Given the description of an element on the screen output the (x, y) to click on. 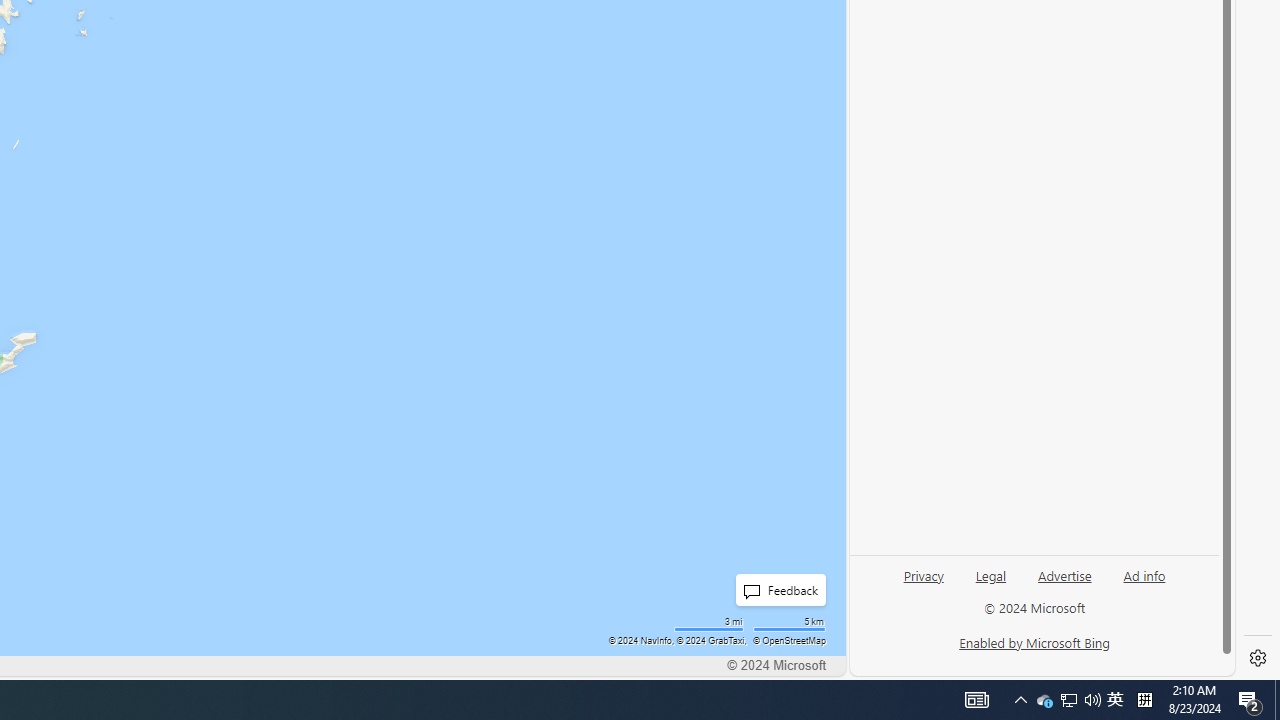
Ad info (1144, 574)
Legal (991, 574)
Legal (990, 583)
Ad info (1144, 583)
